Given the description of an element on the screen output the (x, y) to click on. 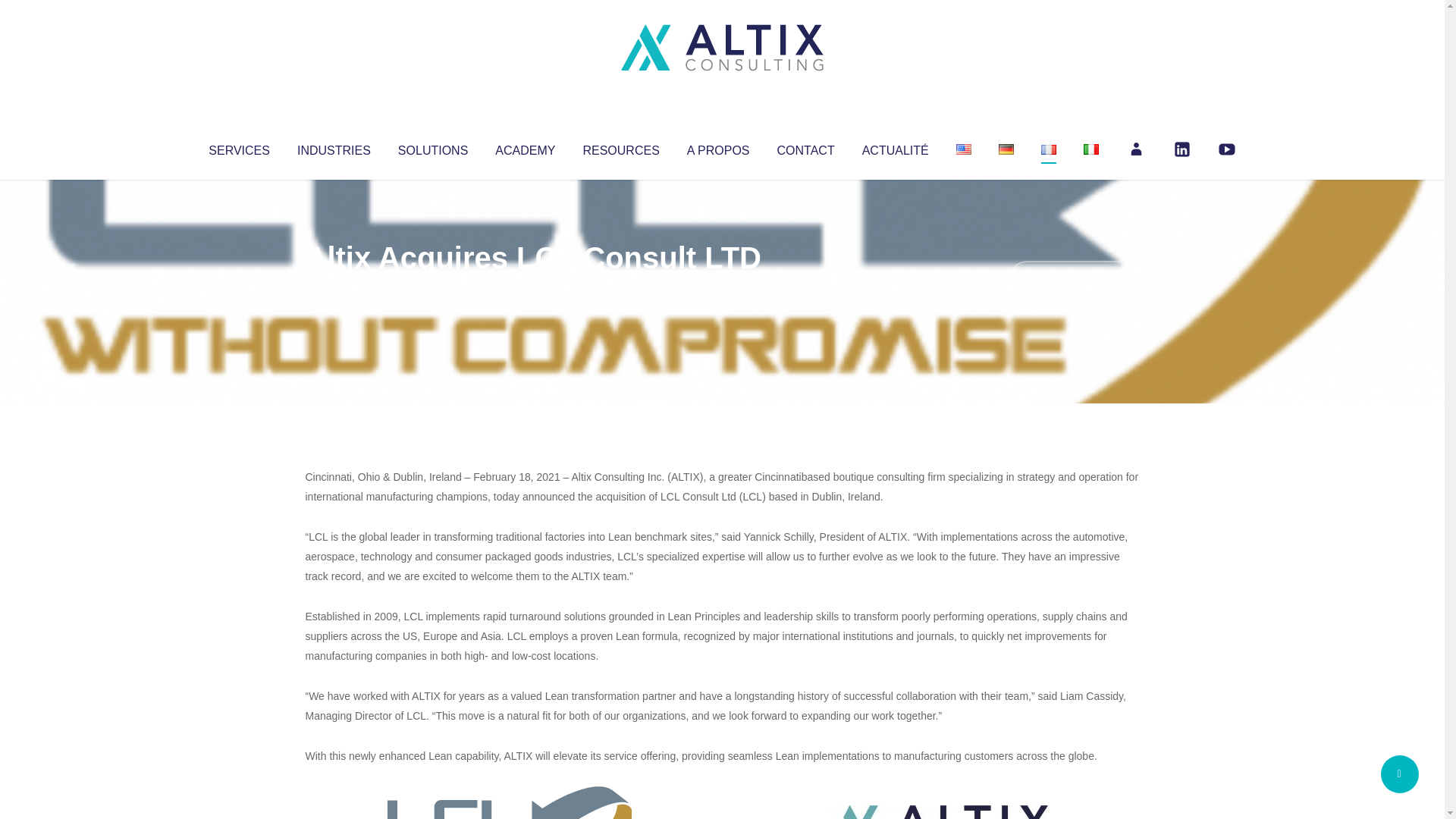
SERVICES (238, 146)
Uncategorized (530, 287)
ACADEMY (524, 146)
SOLUTIONS (432, 146)
A PROPOS (718, 146)
INDUSTRIES (334, 146)
Articles par Altix (333, 287)
RESOURCES (620, 146)
No Comments (1073, 278)
Altix (333, 287)
